Given the description of an element on the screen output the (x, y) to click on. 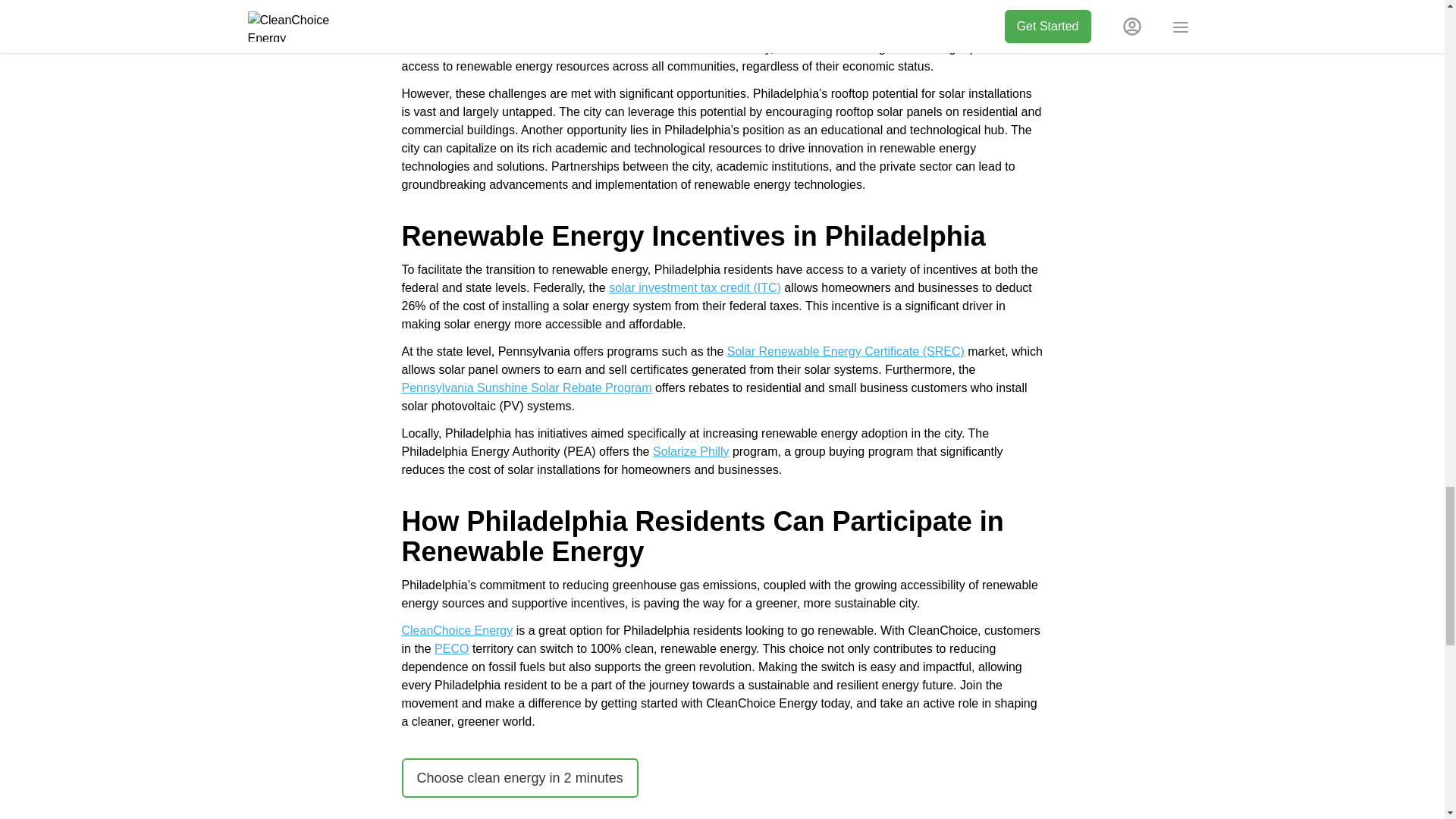
Choose clean energy in 2 minutes (520, 777)
Solarize Philly (690, 451)
Pennsylvania Sunshine Solar Rebate Program (526, 387)
CleanChoice Energy (457, 630)
PECO (450, 648)
